Given the description of an element on the screen output the (x, y) to click on. 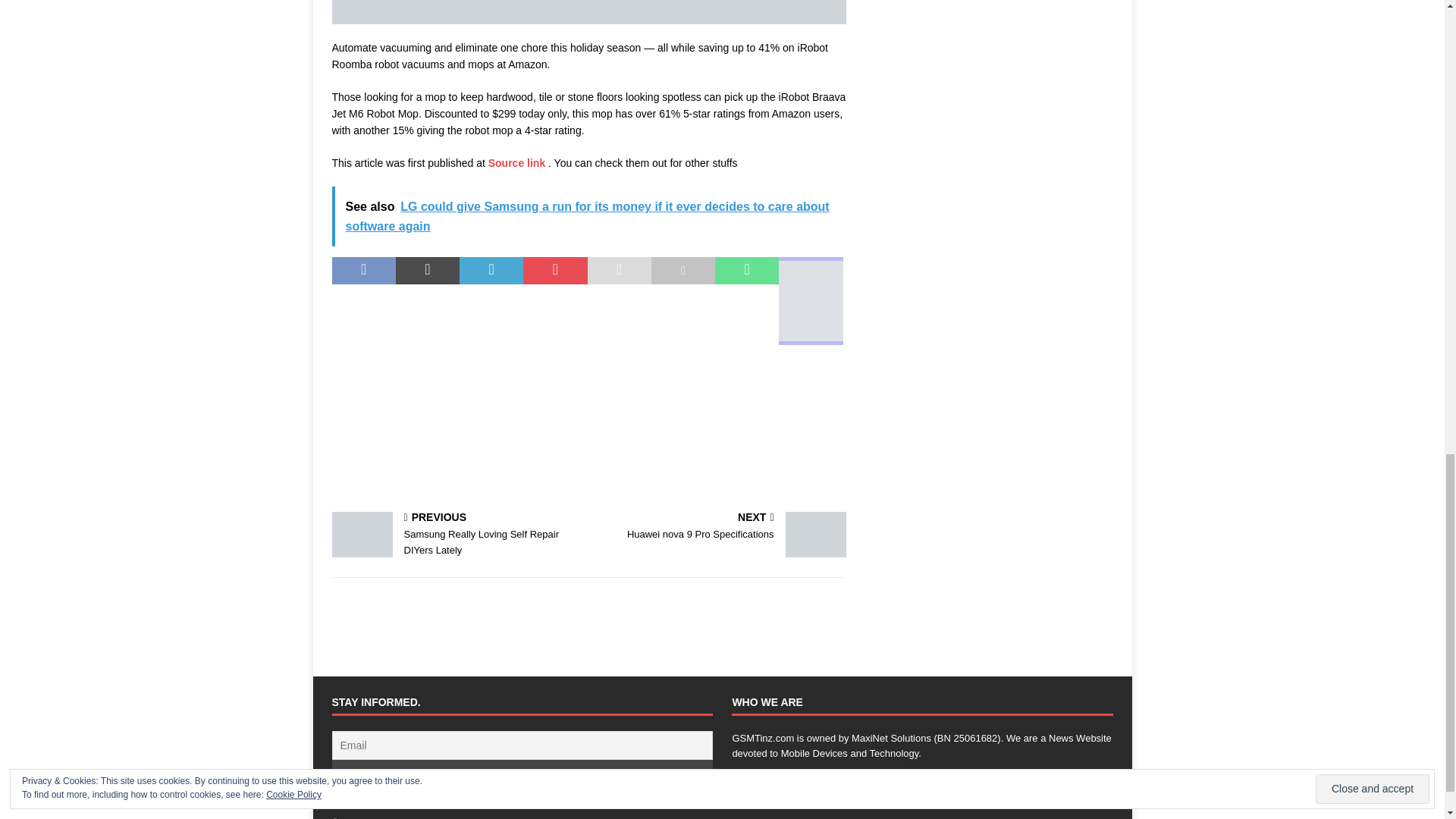
Source link (517, 162)
Join our friends (457, 534)
